Given the description of an element on the screen output the (x, y) to click on. 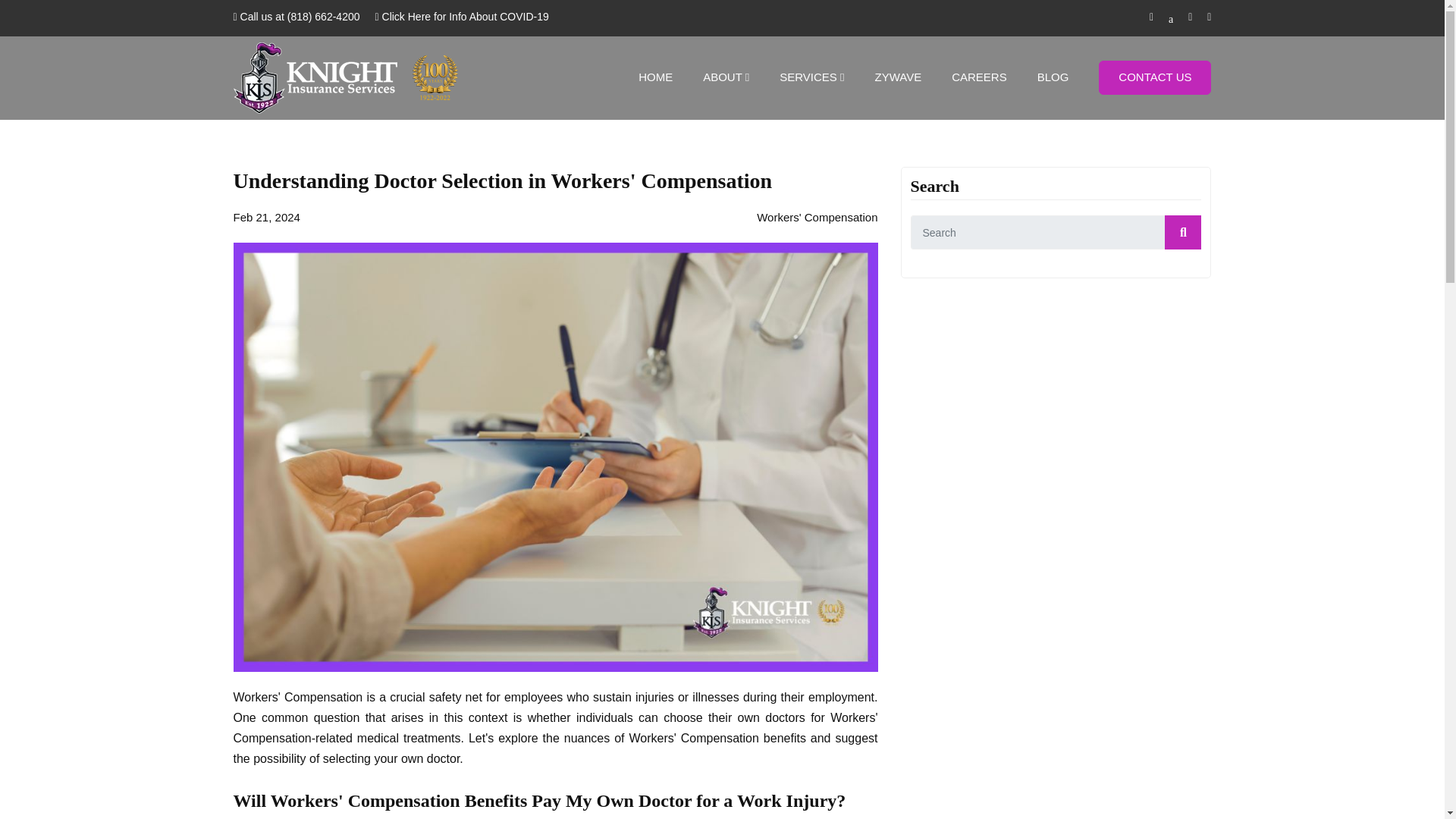
Click Here for Info About COVID-19 (461, 17)
Info About COVID-19 (461, 17)
CONTACT US (1155, 77)
HOME (655, 77)
Home (655, 77)
Call Us (295, 17)
About (726, 77)
CAREERS (979, 77)
ABOUT (726, 77)
Services (811, 77)
